Given the description of an element on the screen output the (x, y) to click on. 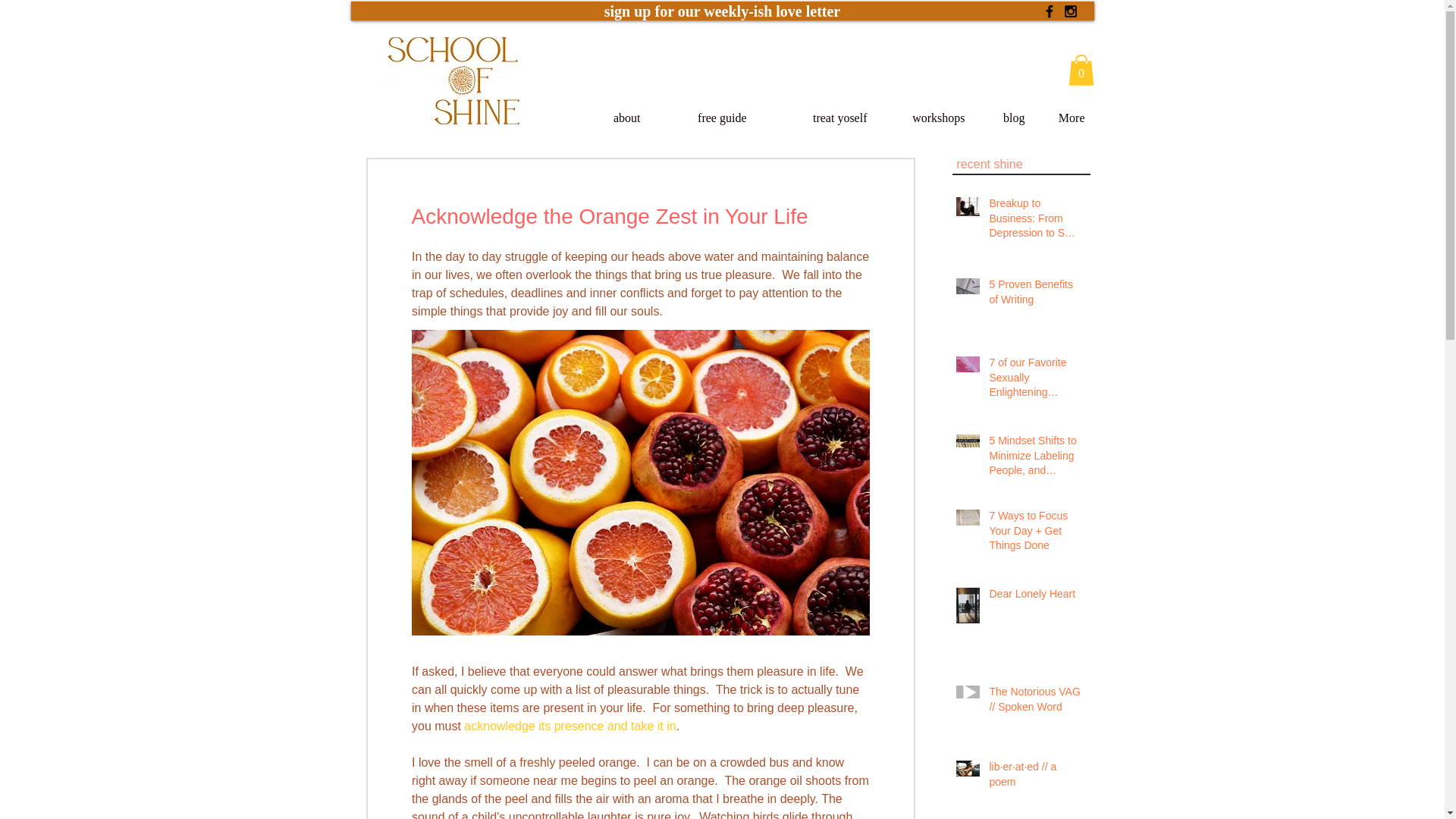
sign up for our weekly-ish love letter (721, 10)
workshops (925, 118)
5 Mindset Shifts to Minimize Labeling People, and Yourself (1034, 459)
blog (1004, 118)
7 of our Favorite Sexually Enlightening Instagram Accounts (1034, 380)
free guide (702, 118)
Dear Lonely Heart (1034, 597)
Breakup to Business: From Depression to Self Dependent (1034, 221)
about (615, 118)
5 Proven Benefits of Writing (1034, 294)
acknowledge its presence and take it in (569, 725)
treat yoself (816, 118)
